Given the description of an element on the screen output the (x, y) to click on. 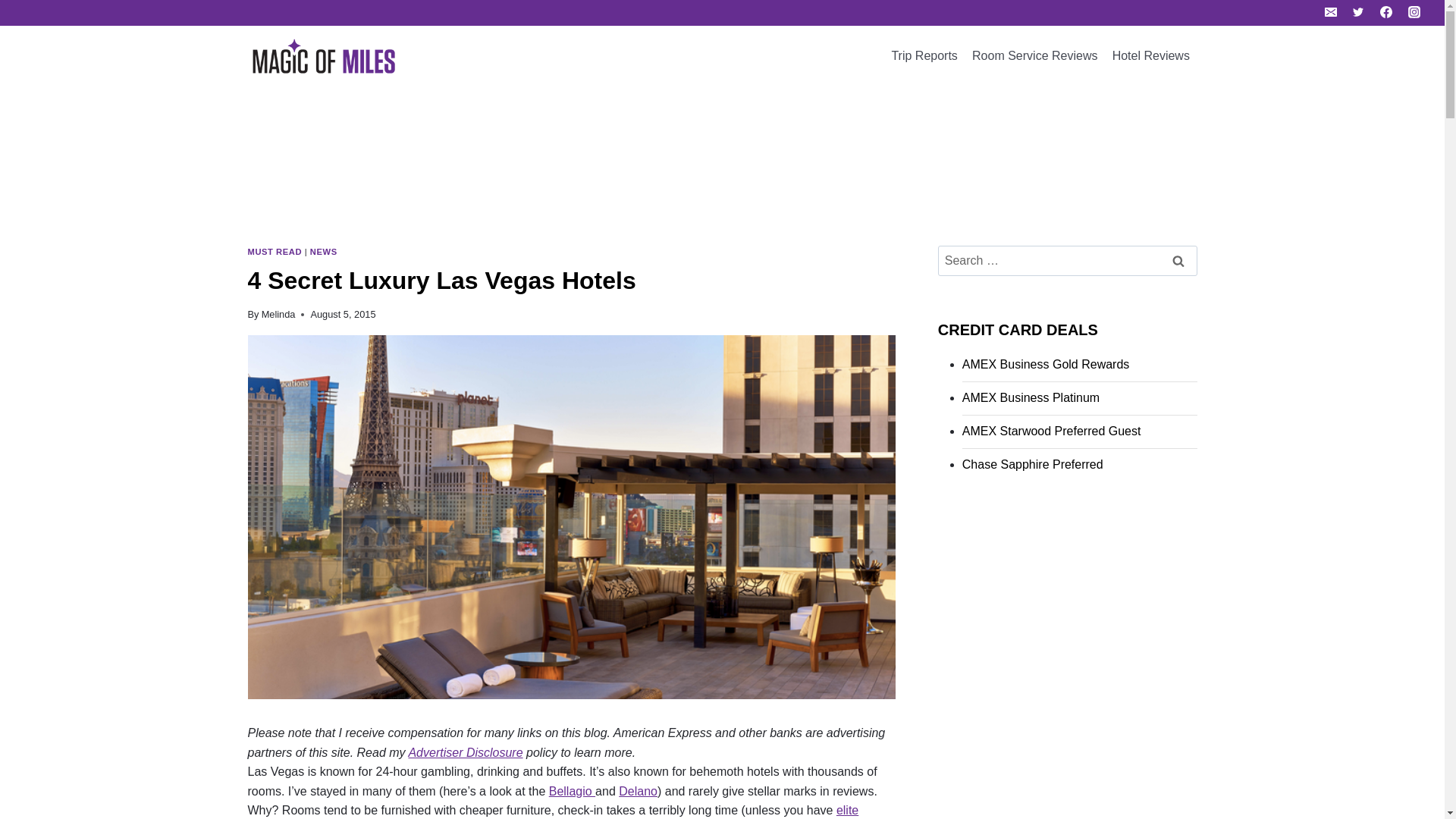
MUST READ (274, 251)
Trip Reports (924, 56)
Room Service Reviews (1034, 56)
NEWS (323, 251)
Bellagio (571, 790)
Search (1177, 260)
Melinda (278, 314)
elite status (553, 811)
Search (1177, 260)
Delano (638, 790)
